Given the description of an element on the screen output the (x, y) to click on. 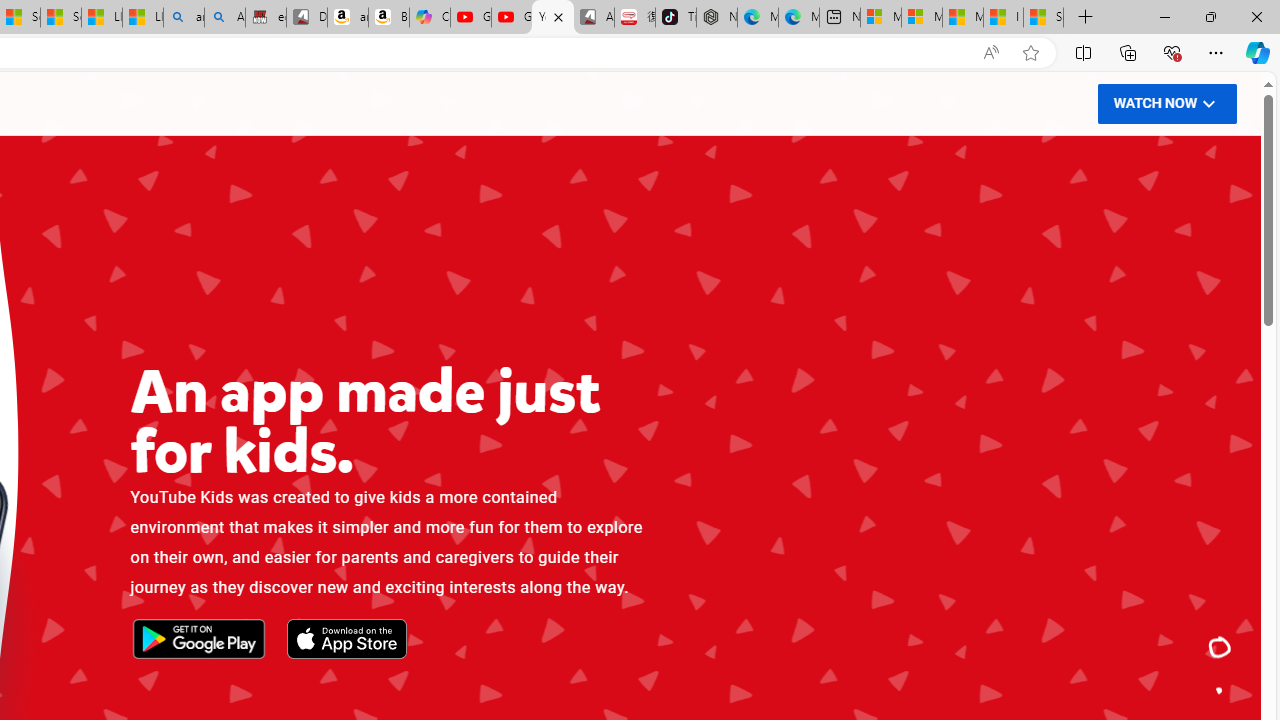
An app made just for kids. (1219, 647)
A safer online experience for kids. (1219, 690)
Amazon Echo Dot PNG - Search Images (224, 17)
